Given the description of an element on the screen output the (x, y) to click on. 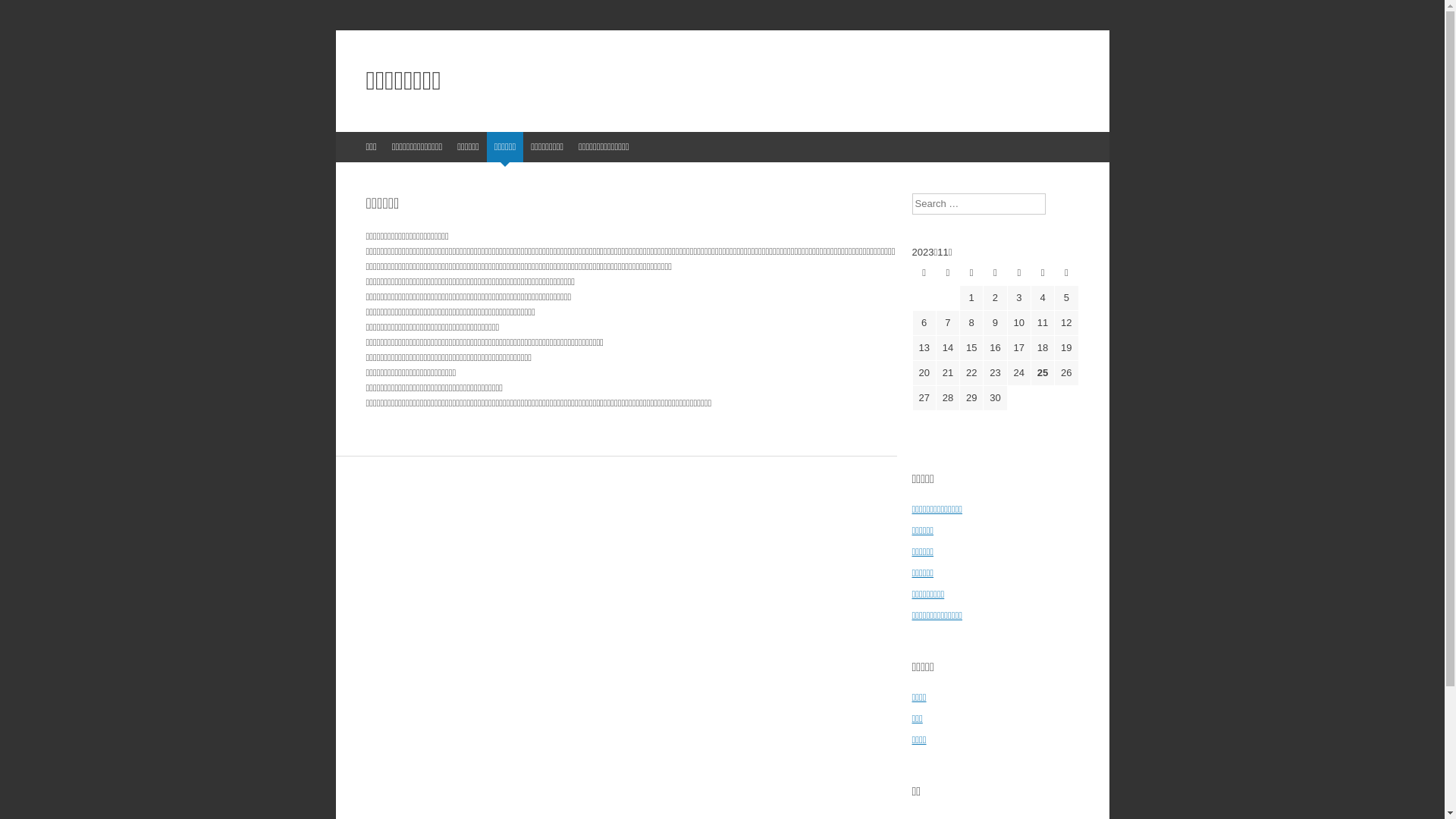
Skip to content Element type: text (375, 146)
Search Element type: text (23, 15)
